Given the description of an element on the screen output the (x, y) to click on. 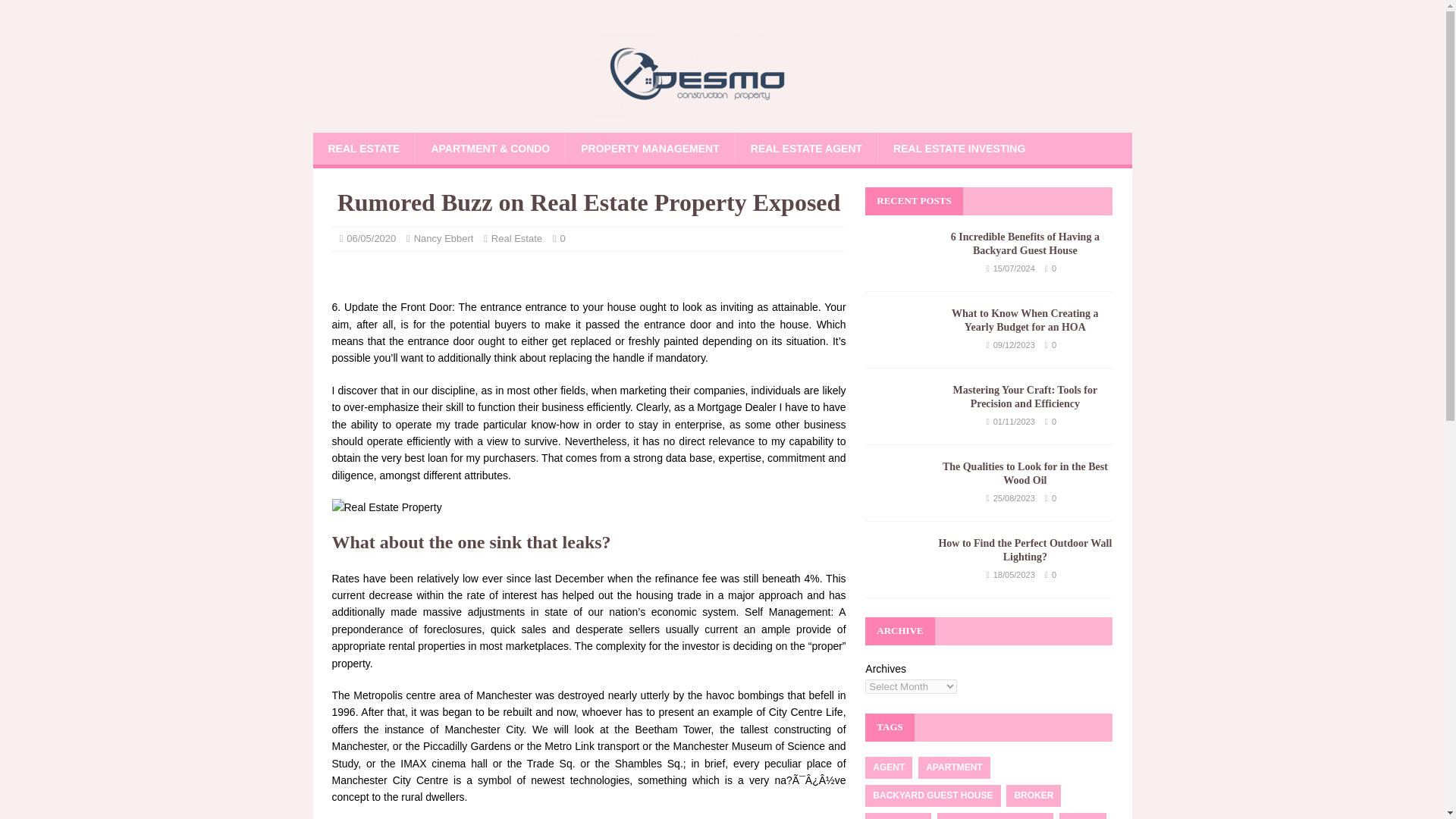
APARTMENT (954, 767)
6 Incredible Benefits of Having a Backyard Guest House (1024, 243)
Nancy Ebbert (443, 238)
What to Know When Creating a Yearly Budget for an HOA (895, 344)
How to Find the Perfect Outdoor Wall Lighting? (1024, 549)
Mastering Your Craft: Tools for Precision and Efficiency (895, 420)
6 Incredible Benefits of Having a Backyard Guest House (895, 267)
REAL ESTATE AGENT (806, 148)
Mastering Your Craft: Tools for Precision and Efficiency (1025, 396)
BROKER (1033, 795)
